Given the description of an element on the screen output the (x, y) to click on. 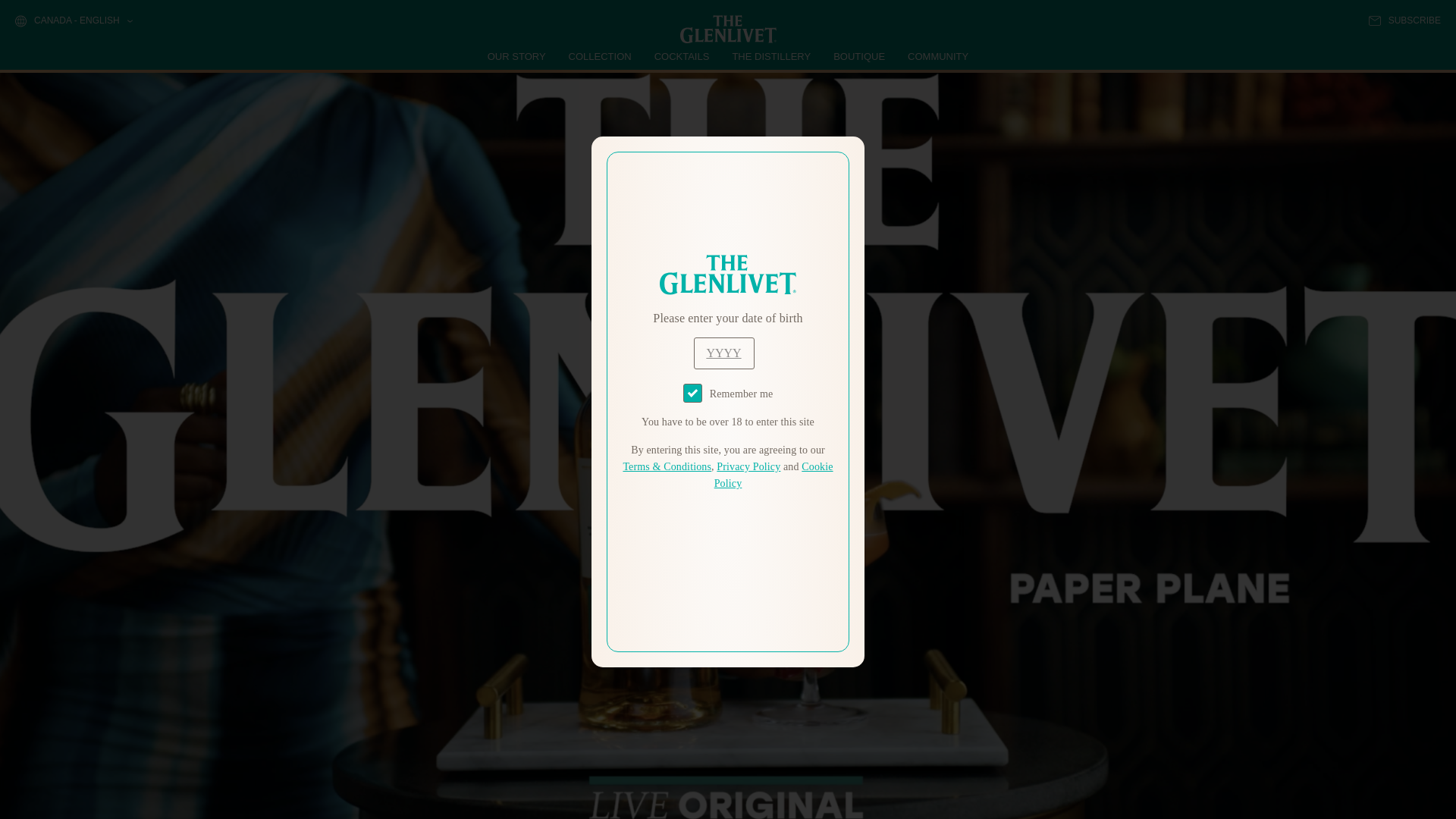
CANADA - ENGLISH (73, 21)
year (723, 353)
Privacy Policy (748, 466)
SUBSCRIBE (1404, 20)
COLLECTION (600, 56)
OUR STORY (516, 56)
BOUTIQUE (858, 56)
COMMUNITY (937, 56)
Cookie Policy (773, 474)
THE DISTILLERY (771, 56)
COCKTAILS (681, 56)
